Given the description of an element on the screen output the (x, y) to click on. 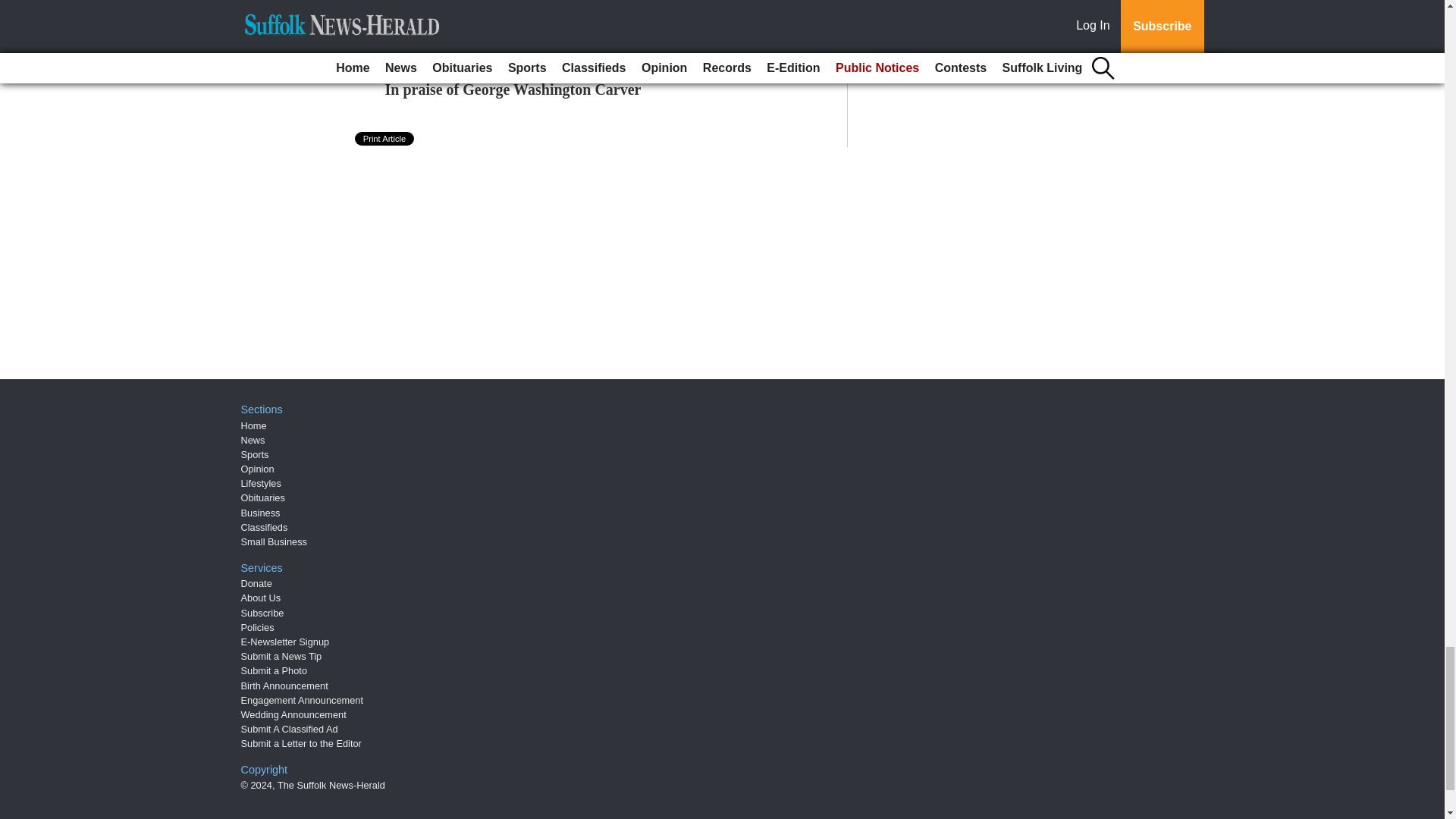
In praise of George Washington Carver (513, 89)
Good job on the AP test (461, 37)
Opinion (258, 469)
News (252, 439)
Sports (255, 454)
Print Article (384, 138)
Business (261, 512)
Lifestyles (261, 482)
Home (253, 425)
Obituaries (263, 497)
Good job on the AP test (461, 37)
In praise of George Washington Carver (513, 89)
